Given the description of an element on the screen output the (x, y) to click on. 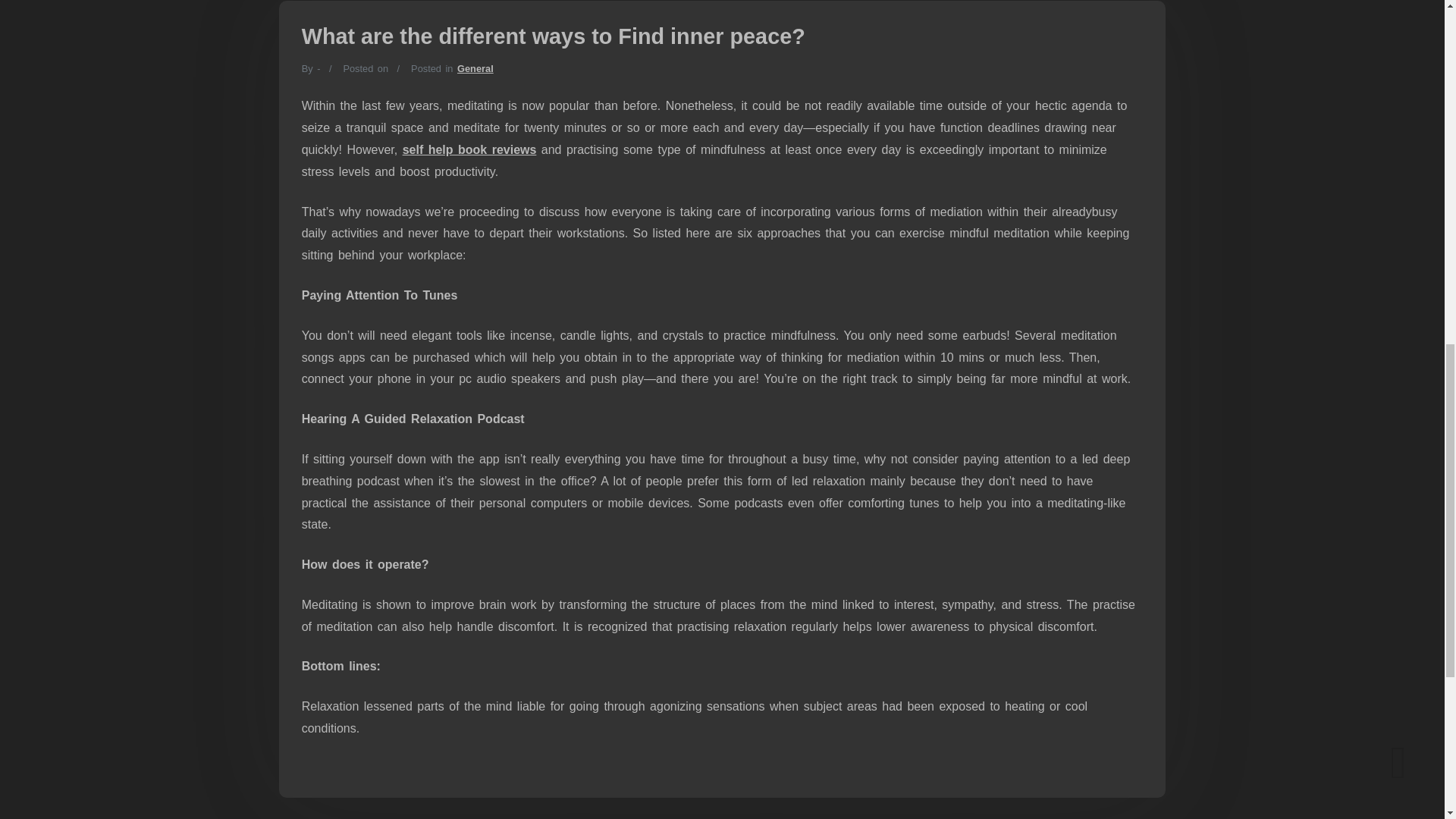
General (475, 68)
self help book reviews (470, 149)
